Given the description of an element on the screen output the (x, y) to click on. 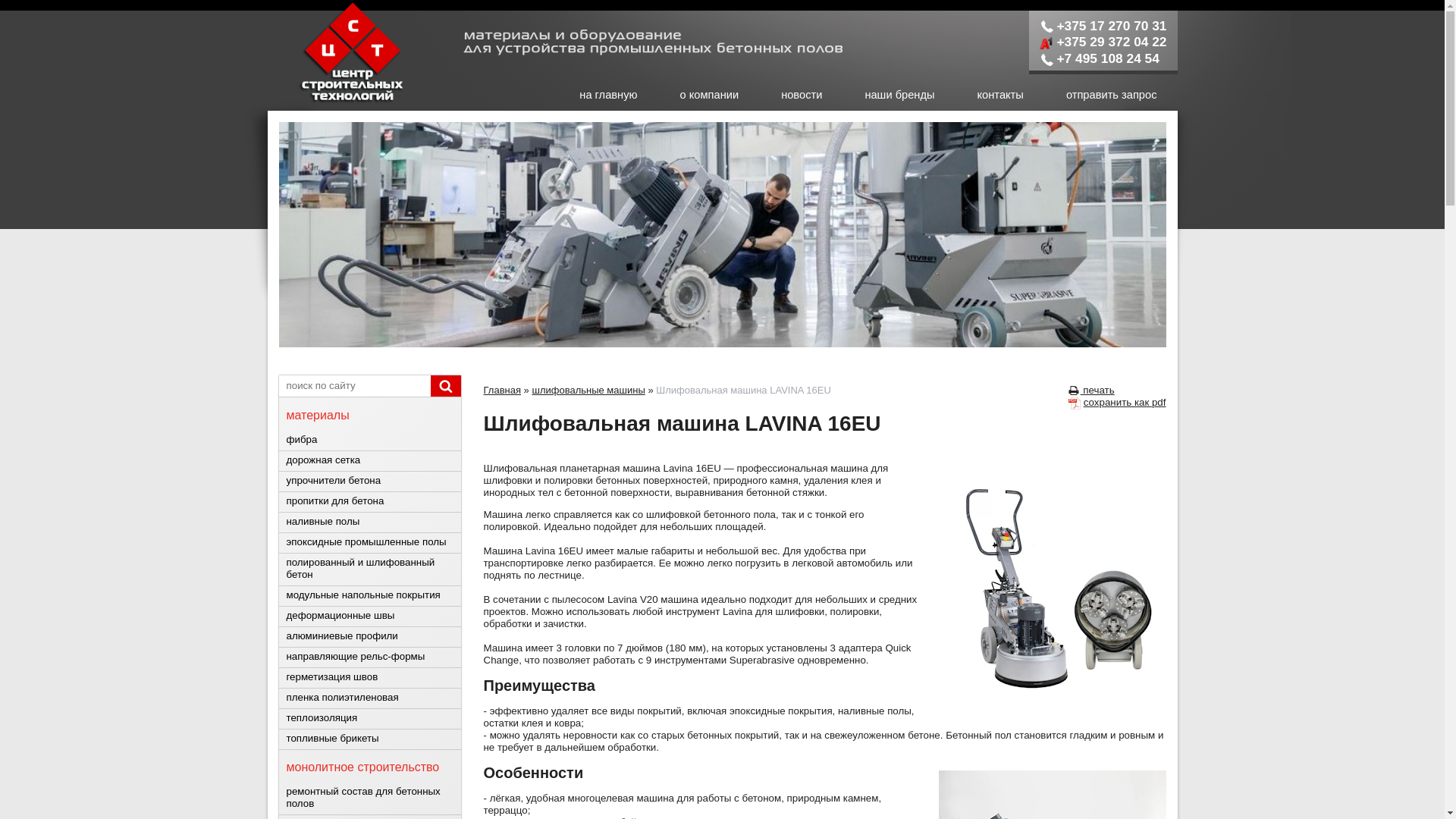
+7 495 108 24 54 Element type: text (1099, 57)
+375 17 270 70 31 Element type: text (1102, 25)
+375 29 372 04 22 Element type: text (1102, 41)
